Given the description of an element on the screen output the (x, y) to click on. 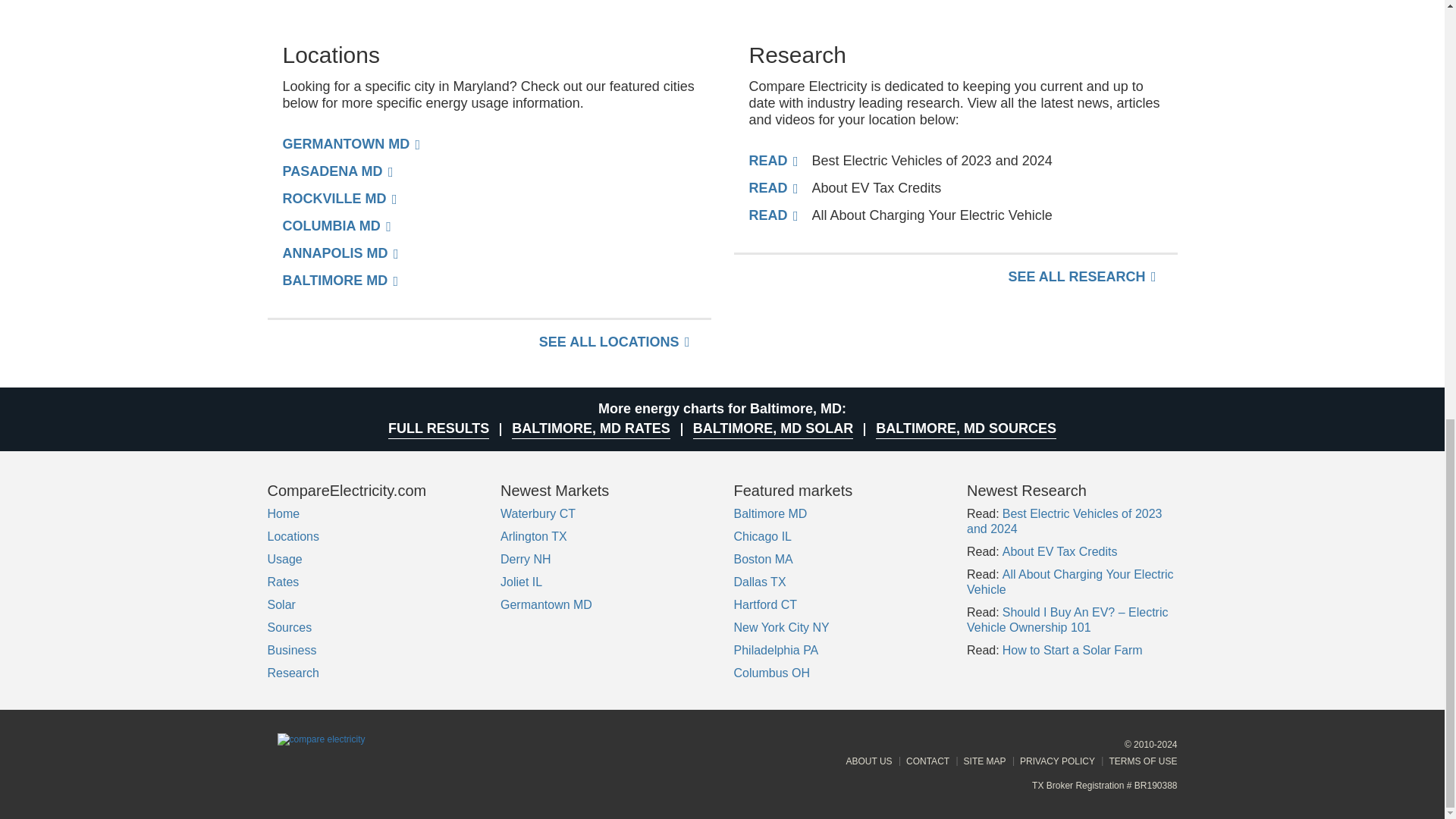
COLUMBIA MD (336, 225)
ROCKVILLE MD (339, 198)
ANNAPOLIS MD (339, 252)
PASADENA MD (337, 170)
BALTIMORE MD (339, 280)
GERMANTOWN MD (351, 143)
SEE ALL LOCATIONS (614, 341)
